Given the description of an element on the screen output the (x, y) to click on. 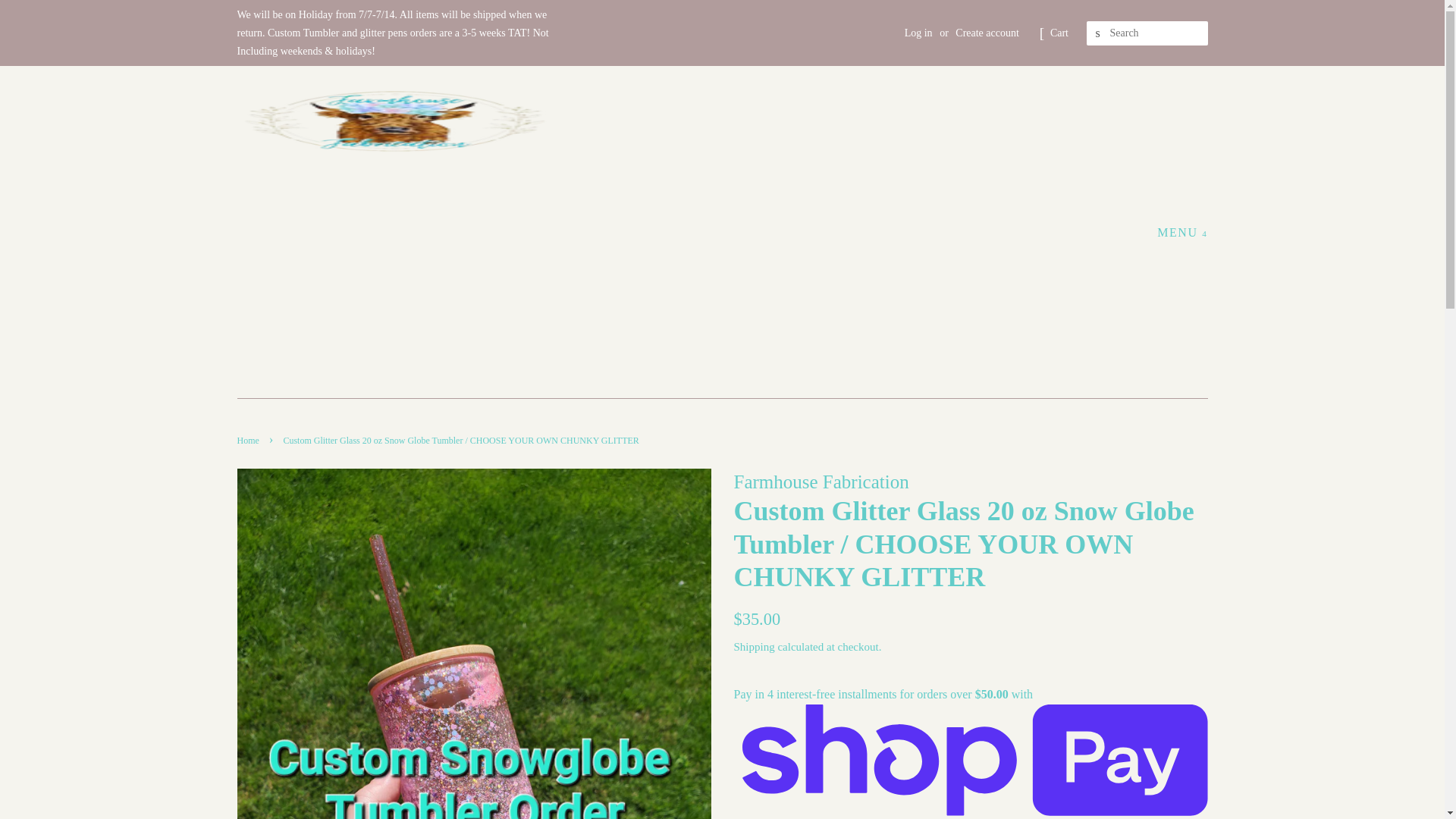
Log in (918, 32)
Cart (1058, 33)
Back to the frontpage (248, 439)
MENU (1182, 232)
Create account (987, 32)
SEARCH (1097, 33)
